Given the description of an element on the screen output the (x, y) to click on. 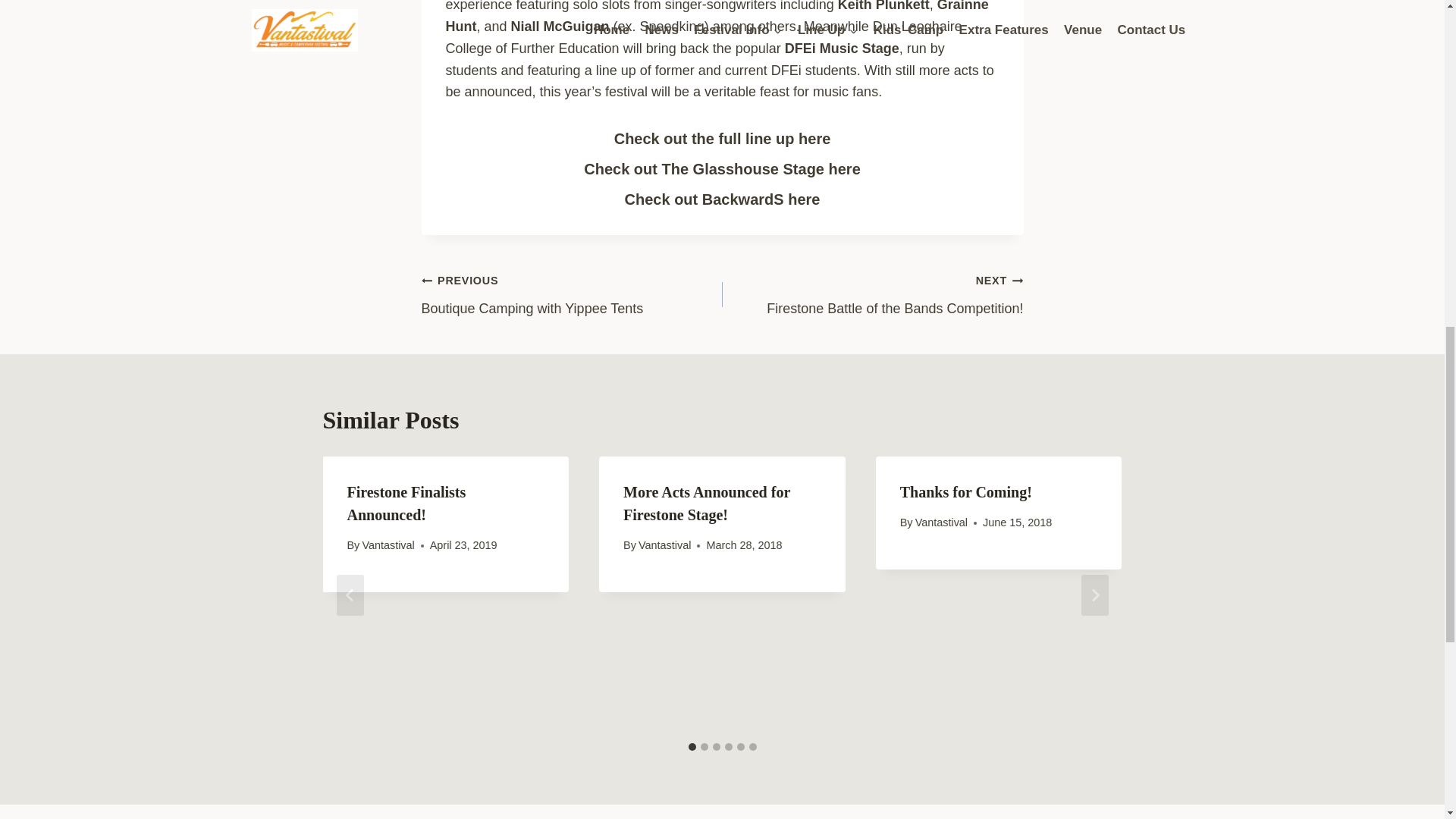
Check out BackwardS here (722, 199)
Check out The Glasshouse Stage here (572, 294)
Check out the full line up here (872, 294)
